Given the description of an element on the screen output the (x, y) to click on. 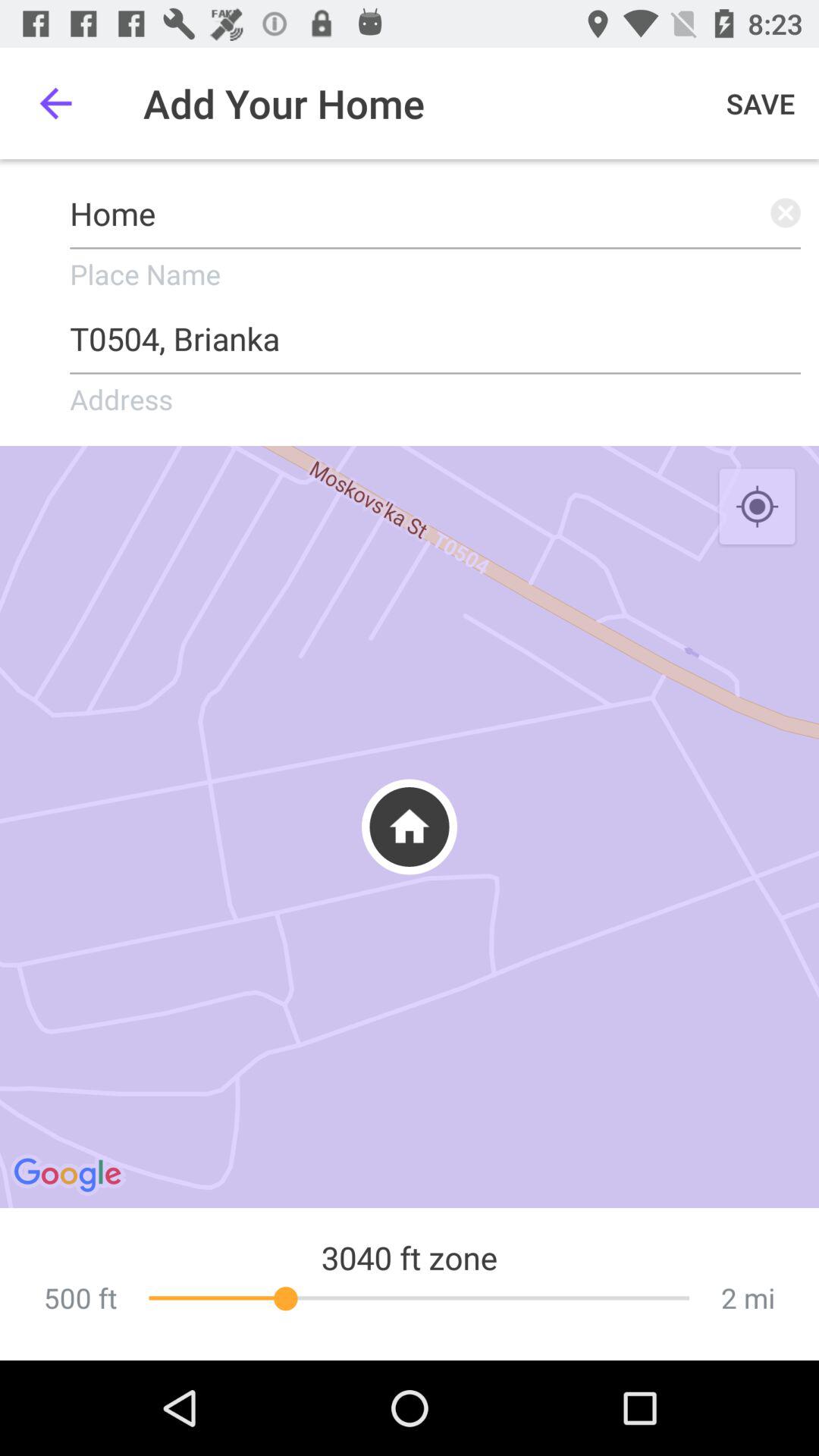
turn off item above address item (434, 333)
